Given the description of an element on the screen output the (x, y) to click on. 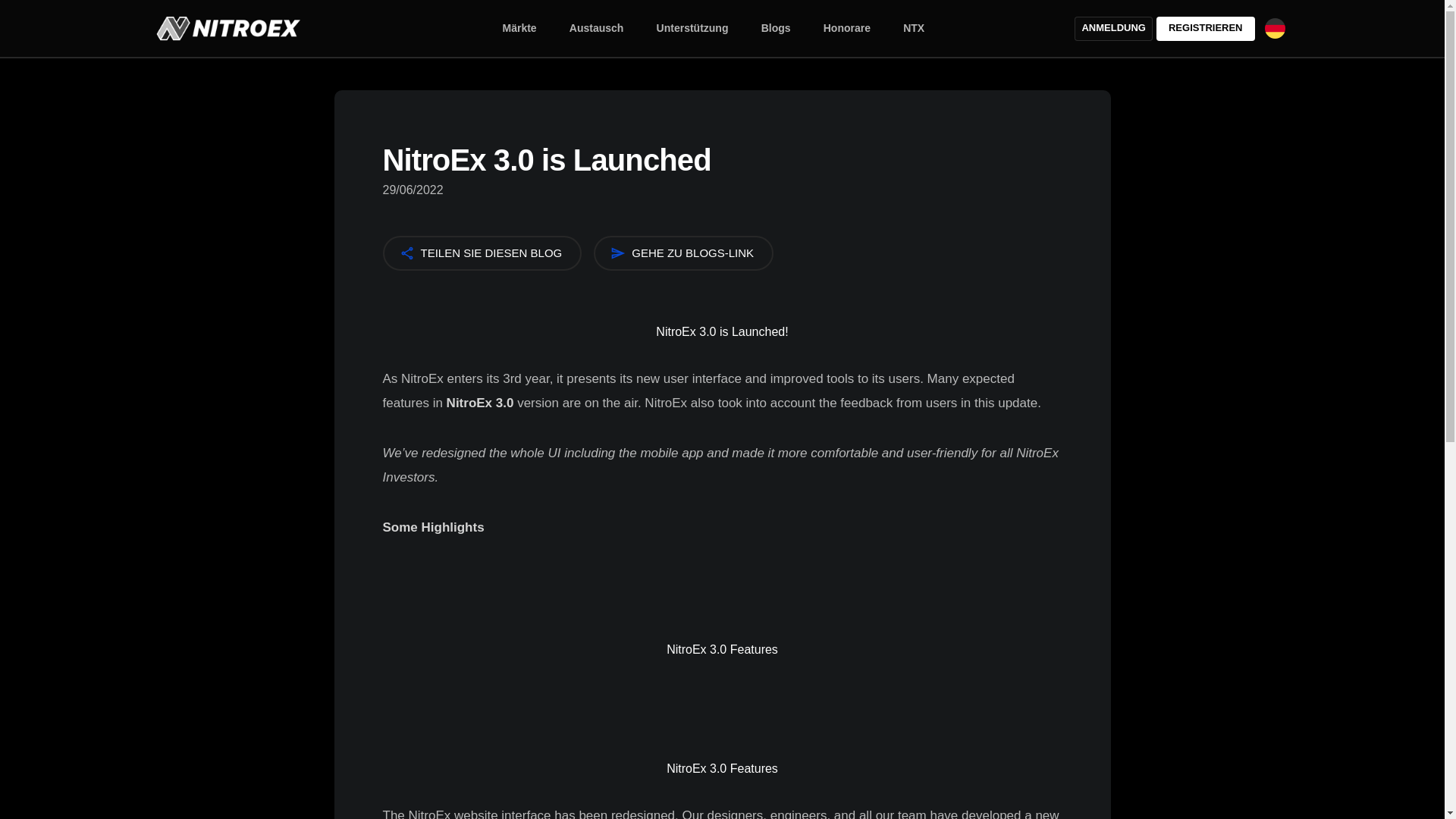
GEHE ZU BLOGS-LINK (683, 253)
REGISTRIEREN (1205, 28)
Blogs (776, 27)
ANMELDUNG (1113, 28)
Honorare (846, 27)
NTX (913, 27)
Austausch (596, 27)
de (1275, 28)
TEILEN SIE DIESEN BLOG (480, 253)
